Given the description of an element on the screen output the (x, y) to click on. 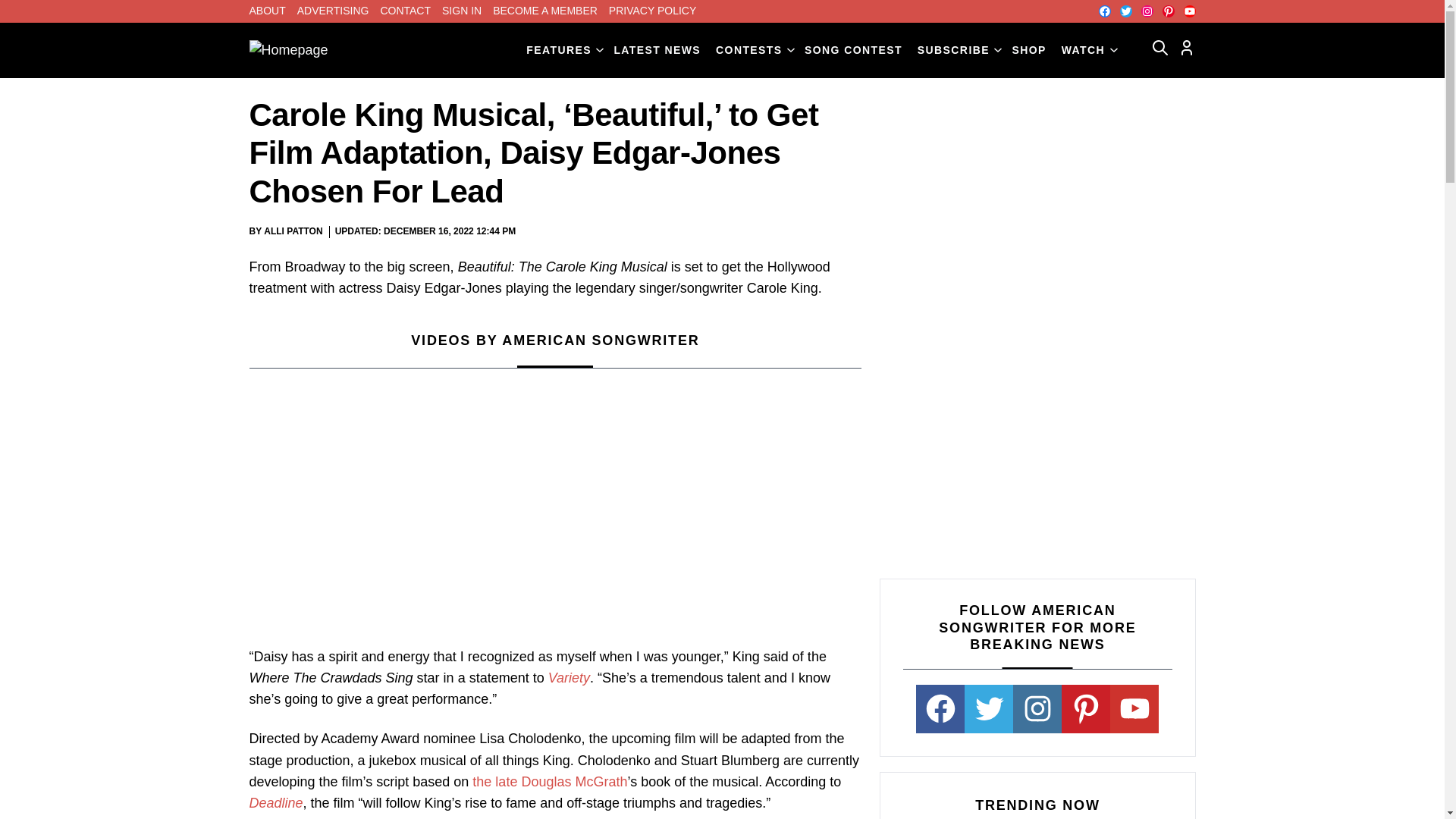
Pinterest (1167, 10)
CONTACT (405, 10)
SIGN IN (461, 10)
ABOUT (266, 10)
BECOME A MEMBER (544, 10)
Posts by Alli Patton (292, 231)
YouTube (1188, 10)
PRIVACY POLICY (651, 10)
Twitter (1125, 10)
Instagram (1146, 10)
